Given the description of an element on the screen output the (x, y) to click on. 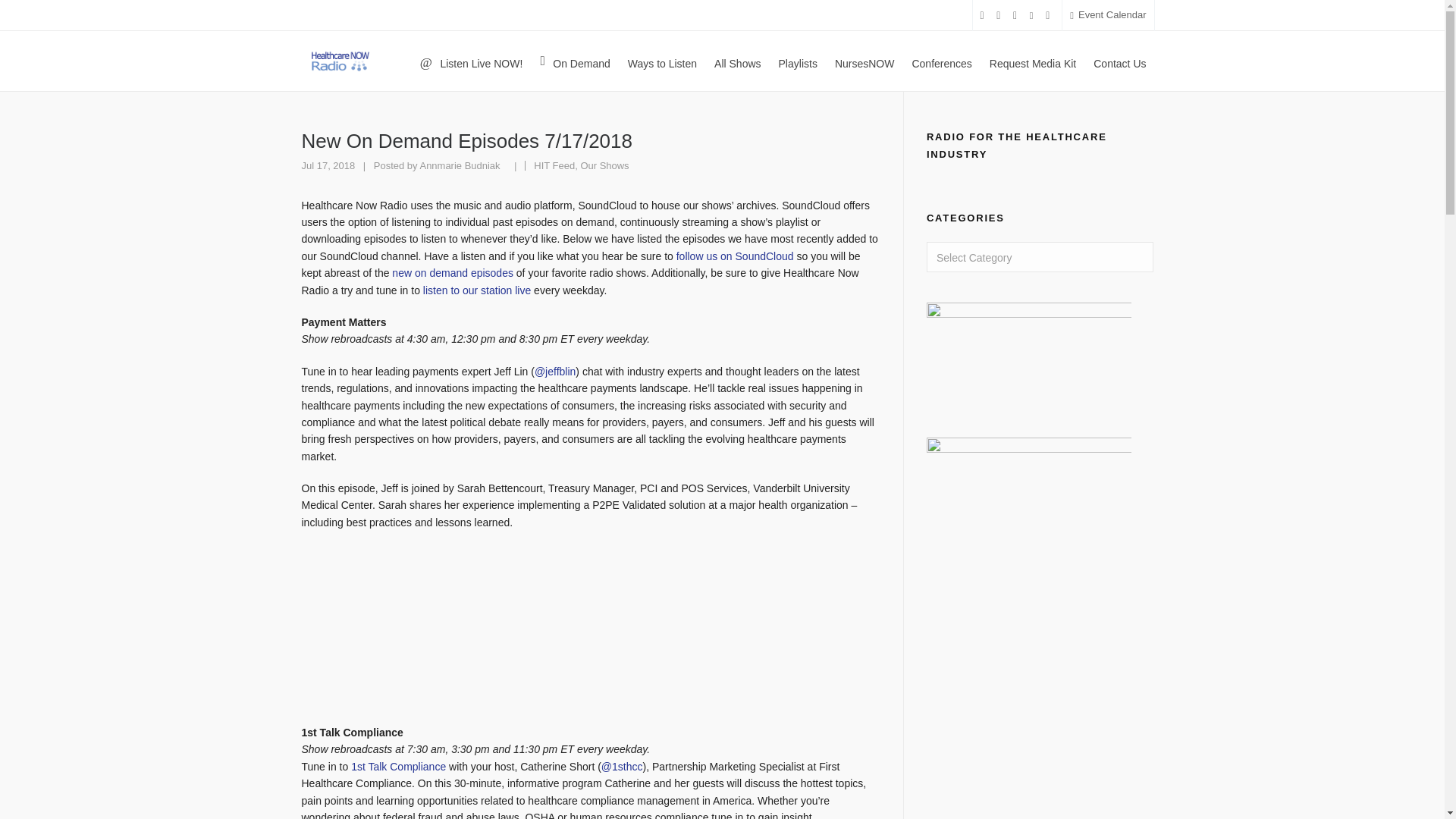
View all posts in HIT Feed (554, 165)
Posts by Annmarie Budniak (459, 165)
View all posts in Our Shows (603, 165)
